Given the description of an element on the screen output the (x, y) to click on. 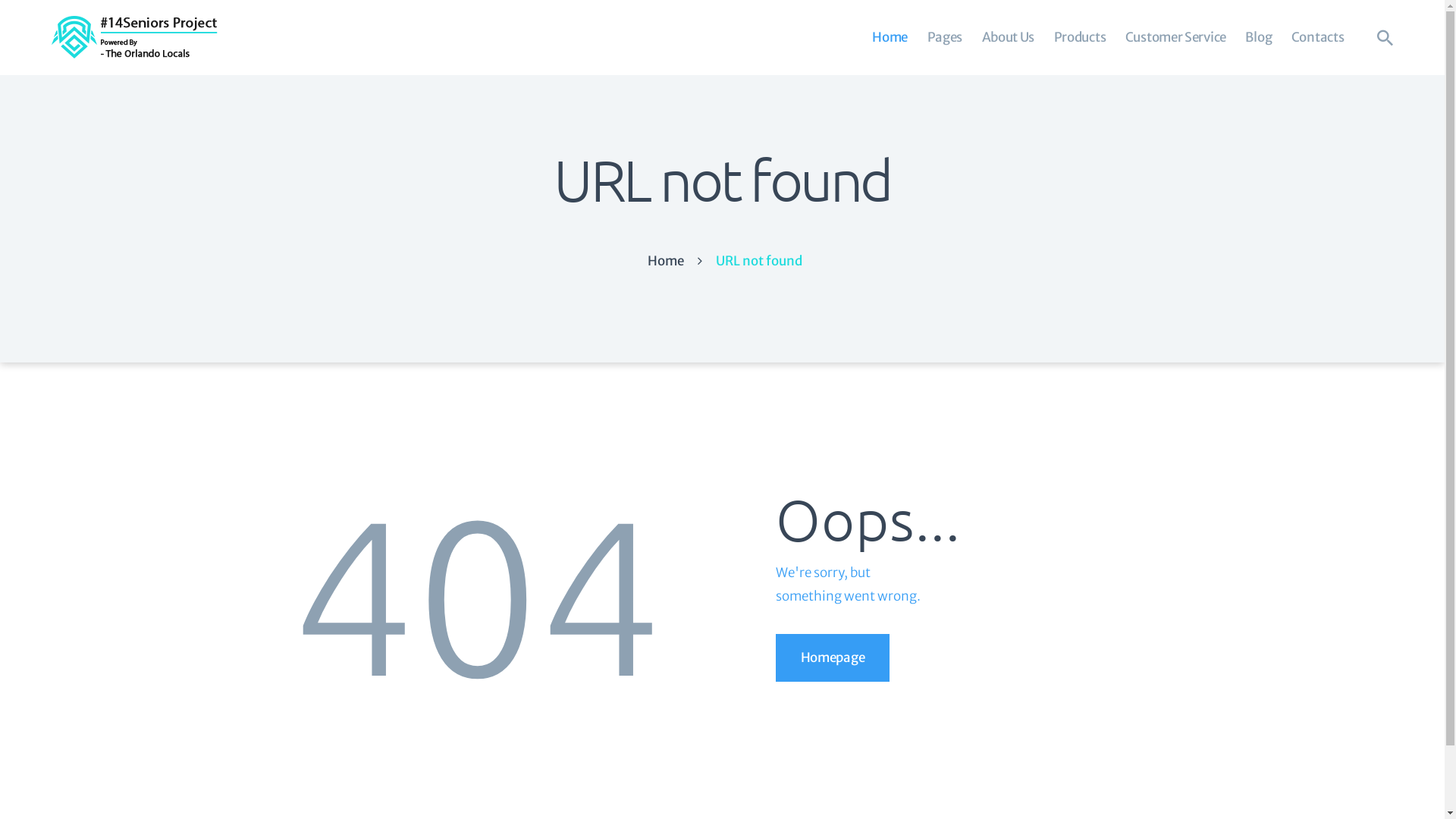
Home Element type: text (665, 260)
Contacts Element type: text (1317, 37)
Home Element type: text (889, 37)
Homepage Element type: text (832, 657)
Blog Element type: text (1258, 37)
Pages Element type: text (944, 37)
About Us Element type: text (1008, 37)
Products Element type: text (1079, 37)
Customer Service Element type: text (1175, 37)
